Given the description of an element on the screen output the (x, y) to click on. 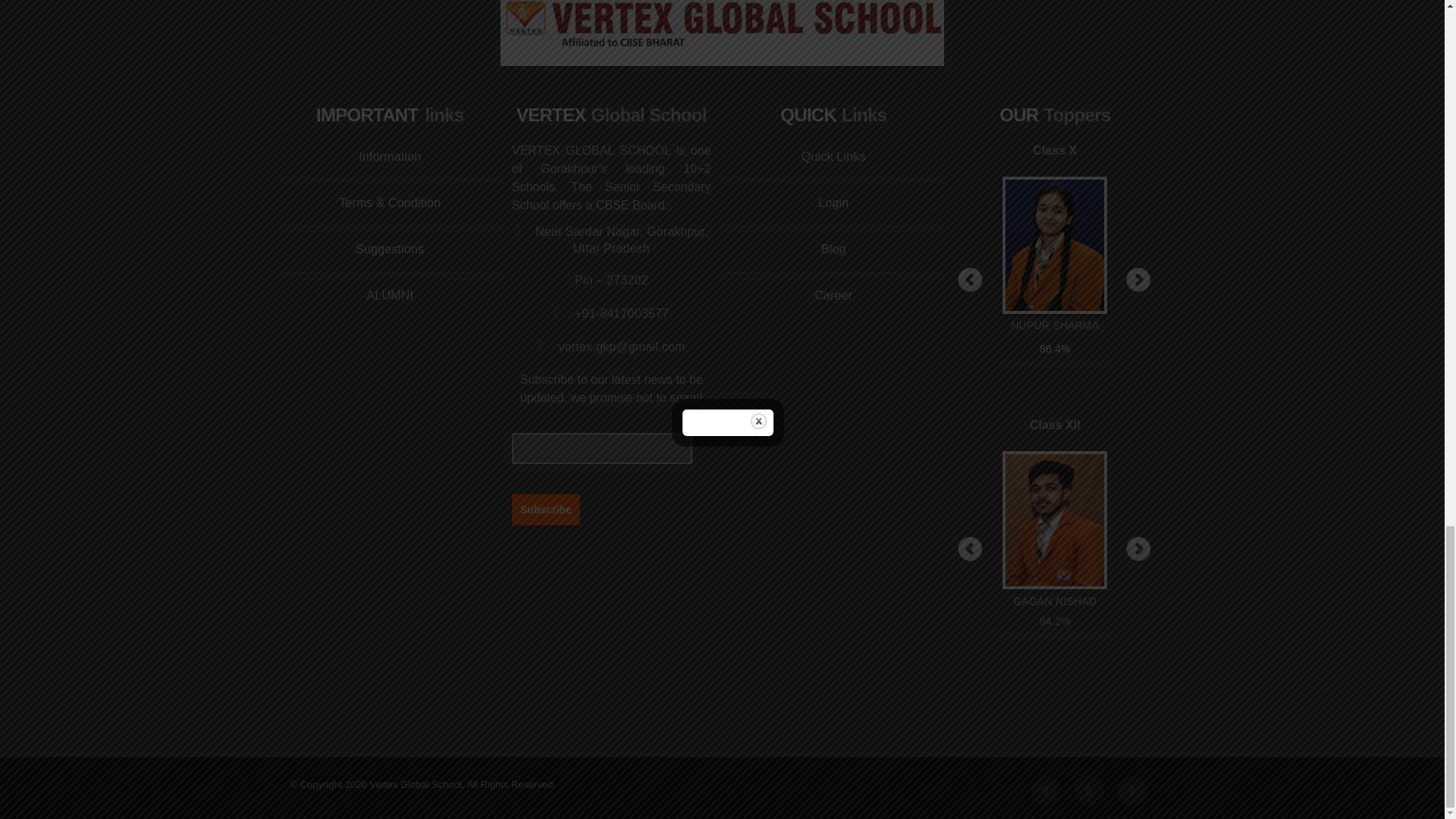
Subscribe (545, 508)
